Given the description of an element on the screen output the (x, y) to click on. 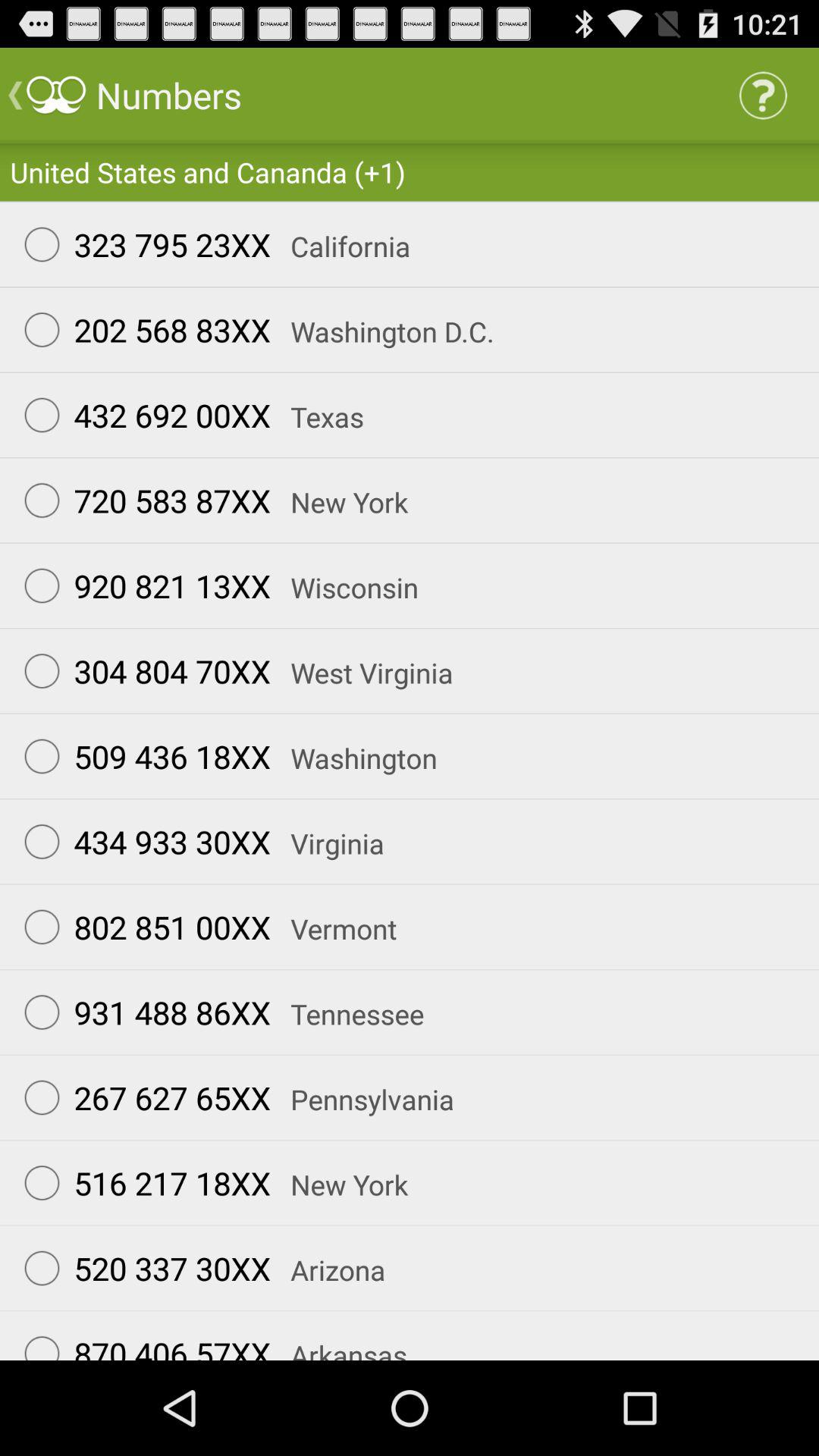
tap 267 627 65xx item (140, 1097)
